Given the description of an element on the screen output the (x, y) to click on. 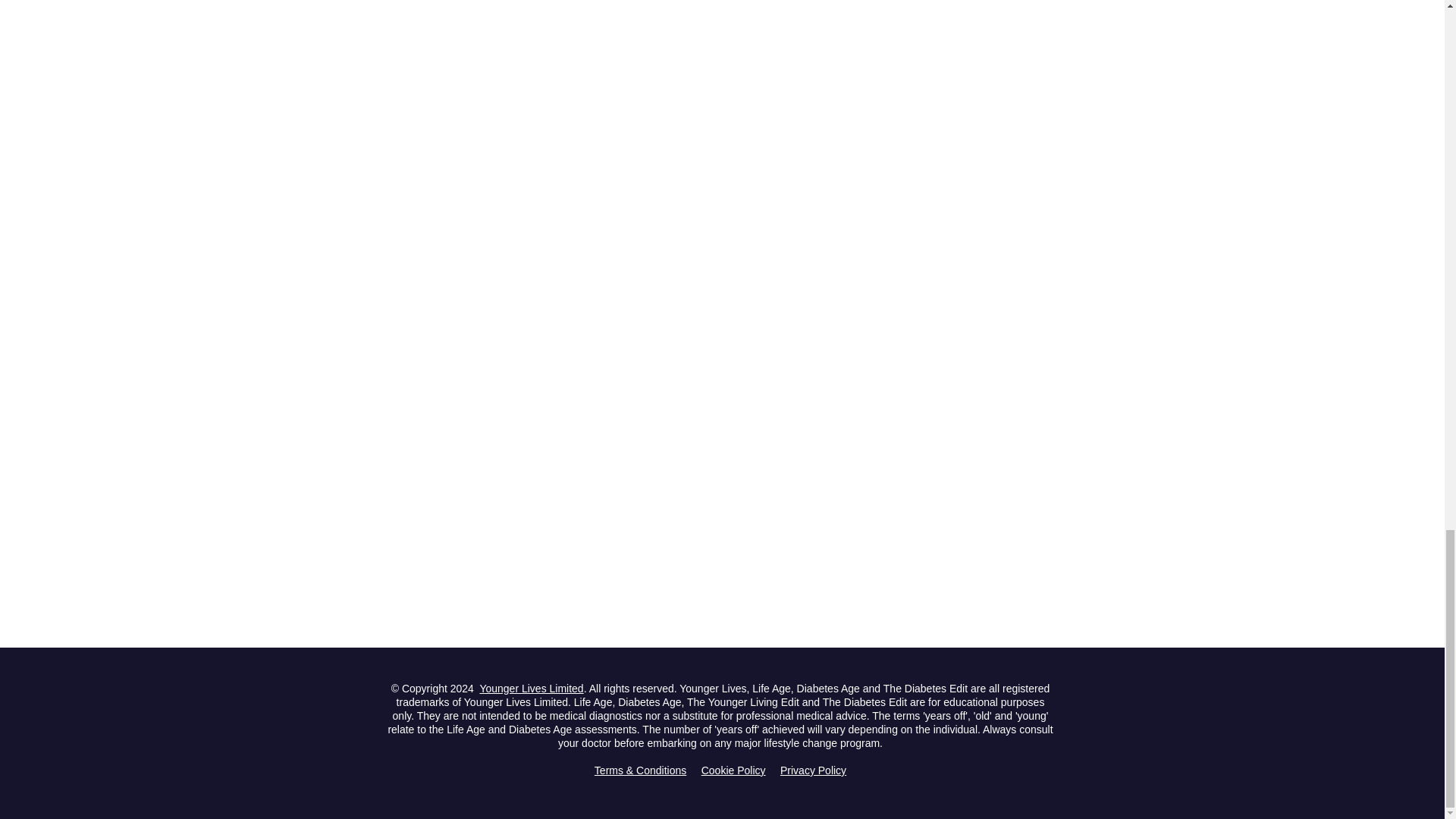
Younger Lives Limited (531, 688)
Cookie Policy (733, 770)
Privacy Policy (812, 770)
